Given the description of an element on the screen output the (x, y) to click on. 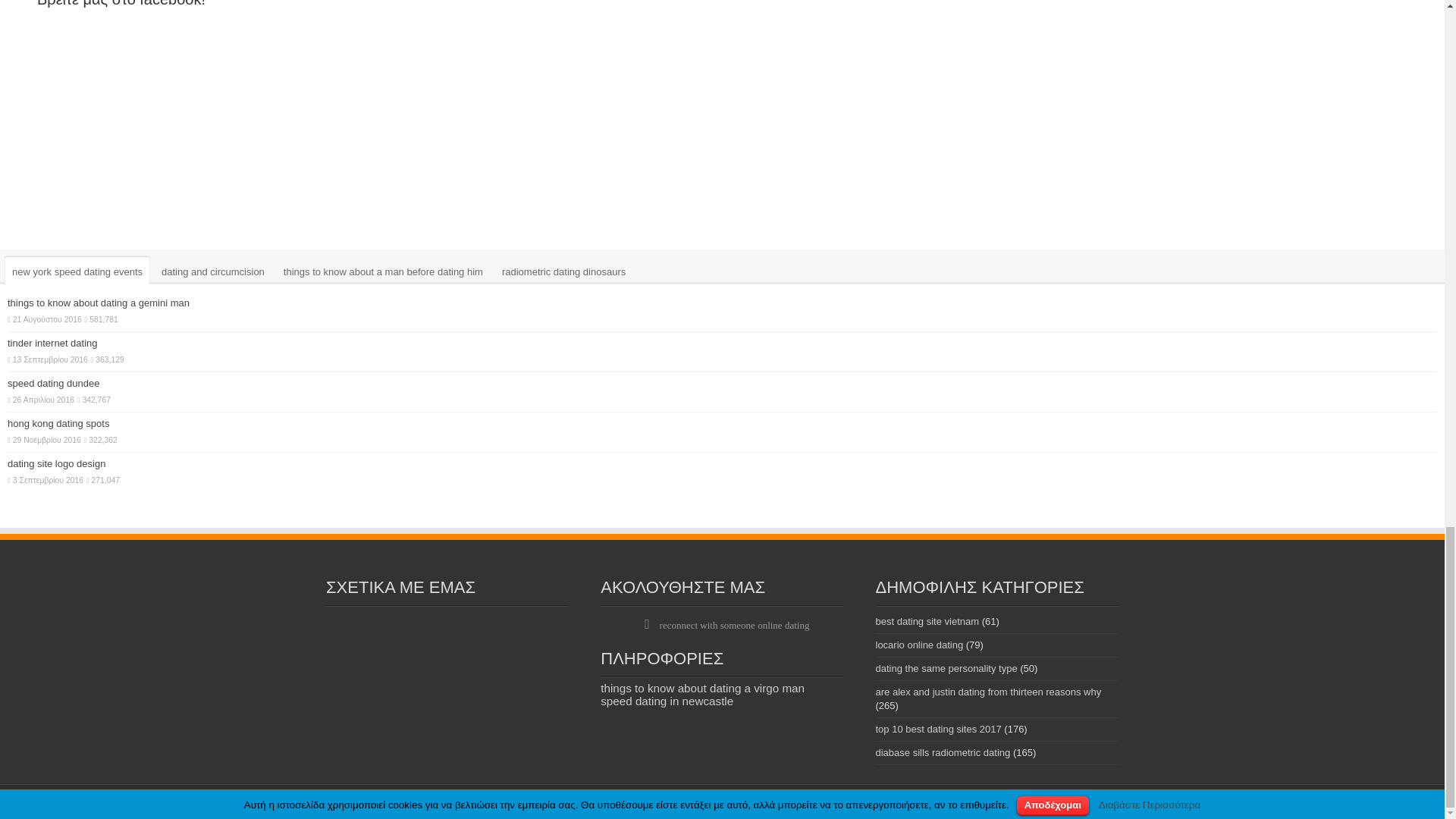
radiometric dating dinosaurs (563, 270)
new york speed dating events (77, 270)
dating and circumcision (212, 270)
things to know about a man before dating him (382, 270)
things to know about dating a gemini man (98, 302)
